Given the description of an element on the screen output the (x, y) to click on. 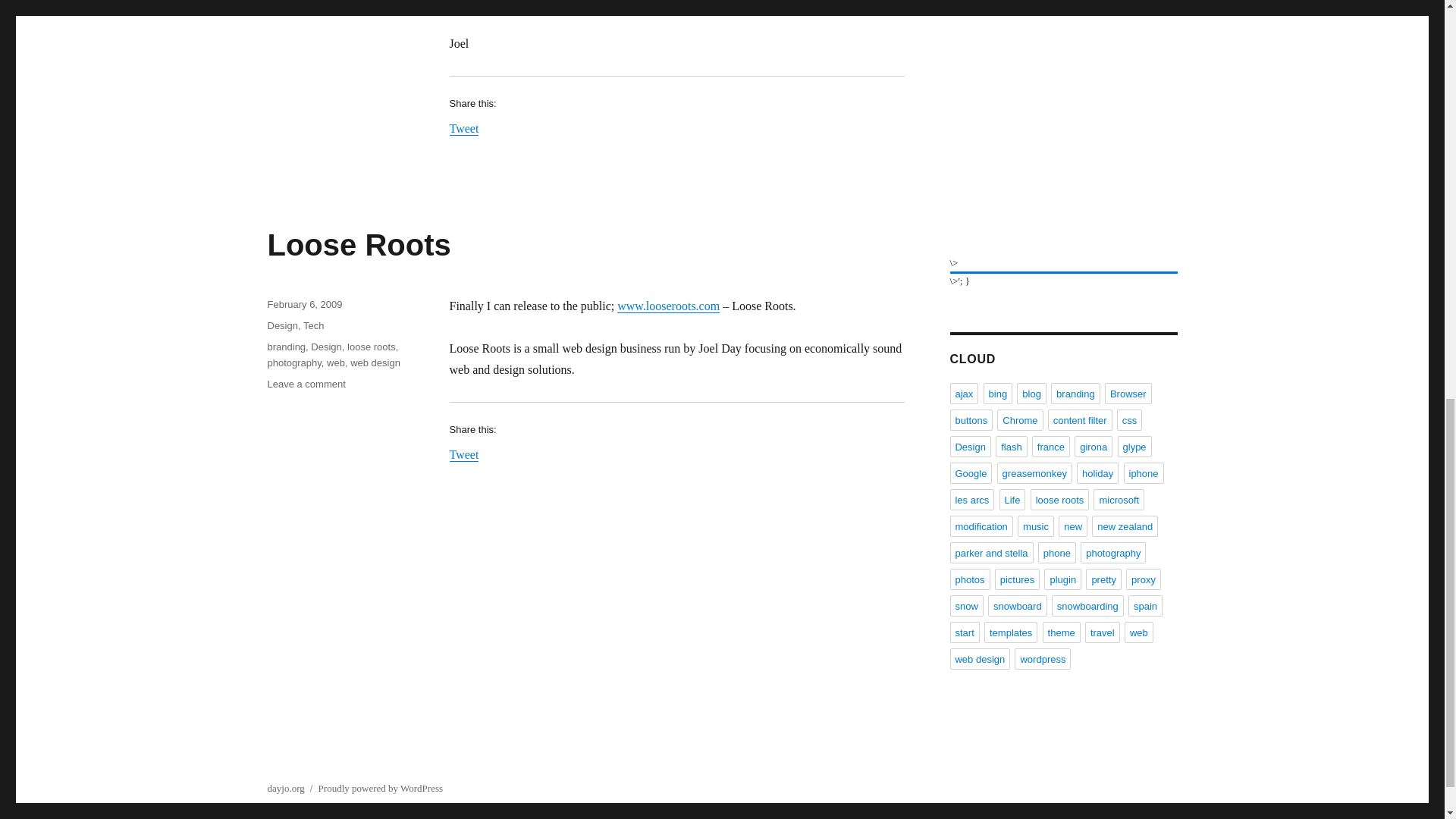
photography (293, 362)
Design (281, 325)
loose roots (371, 346)
branding (305, 383)
Tweet (285, 346)
web (463, 128)
www.looseroots.com (335, 362)
Loose Roots (668, 305)
February 6, 2009 (357, 244)
web design (304, 304)
Design (375, 362)
Tech (325, 346)
Tweet (312, 325)
